Given the description of an element on the screen output the (x, y) to click on. 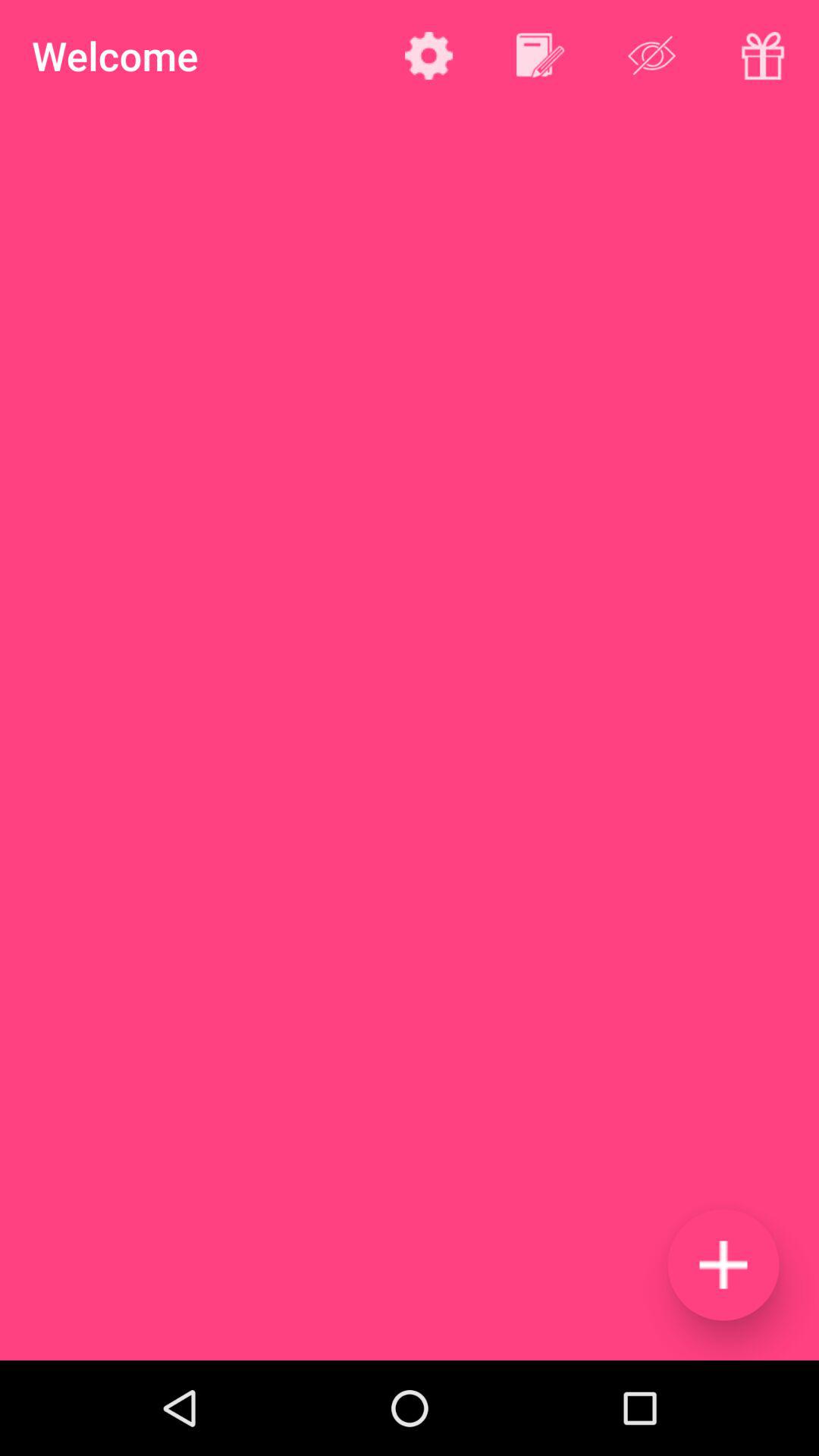
gift icon (763, 55)
